Given the description of an element on the screen output the (x, y) to click on. 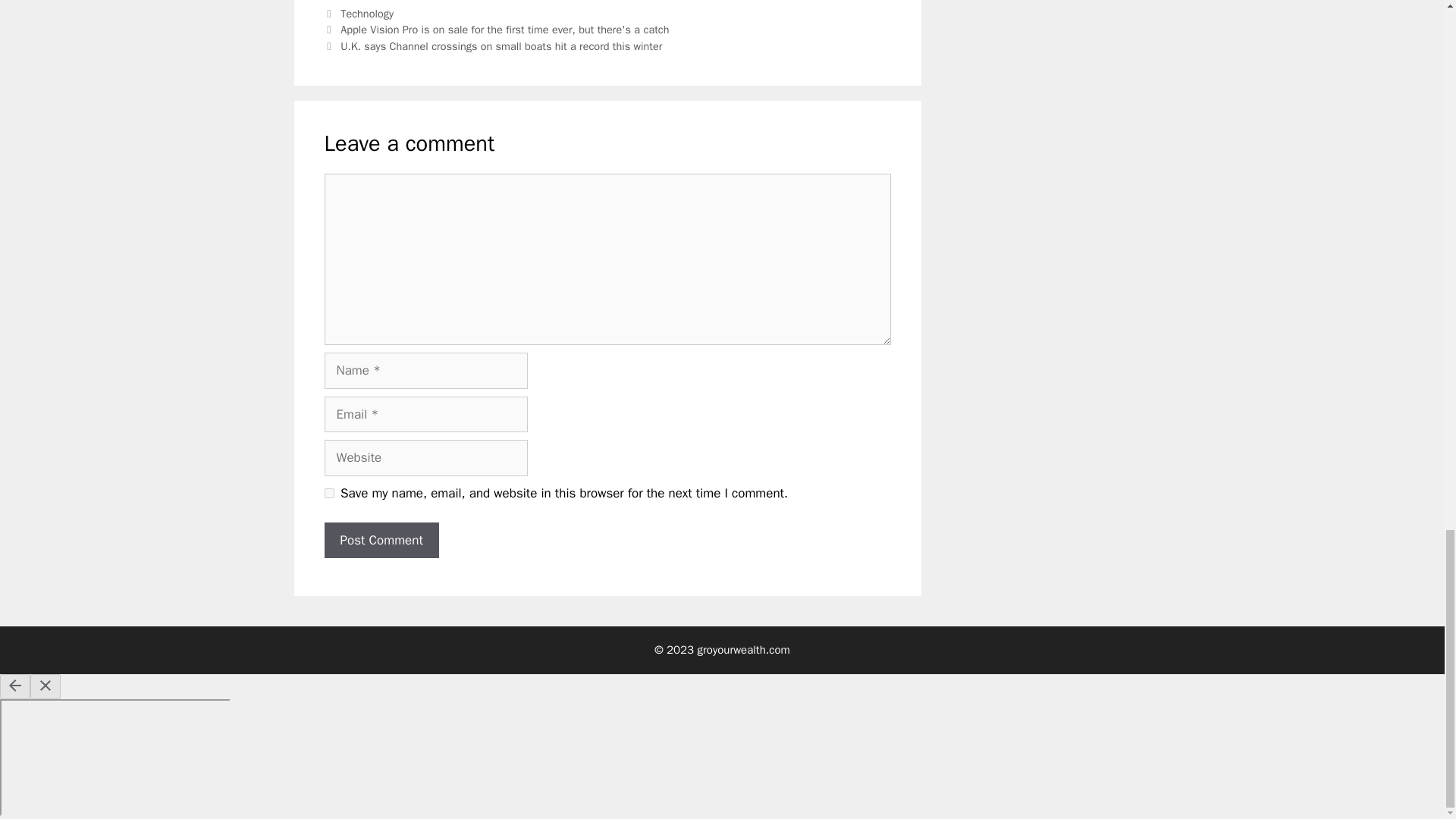
Technology (366, 13)
yes (329, 492)
Post Comment (381, 540)
